Given the description of an element on the screen output the (x, y) to click on. 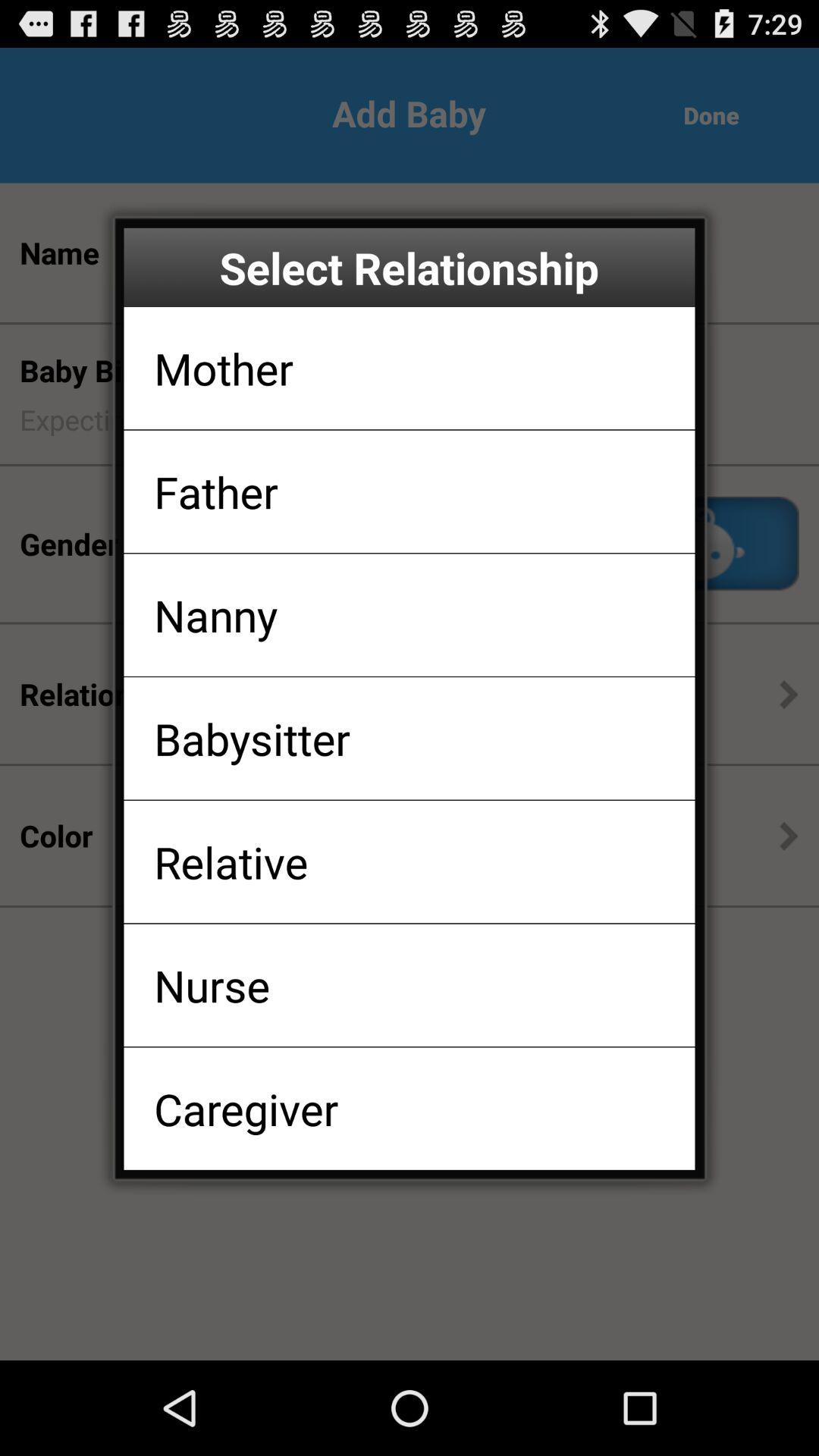
press the mother icon (223, 367)
